Given the description of an element on the screen output the (x, y) to click on. 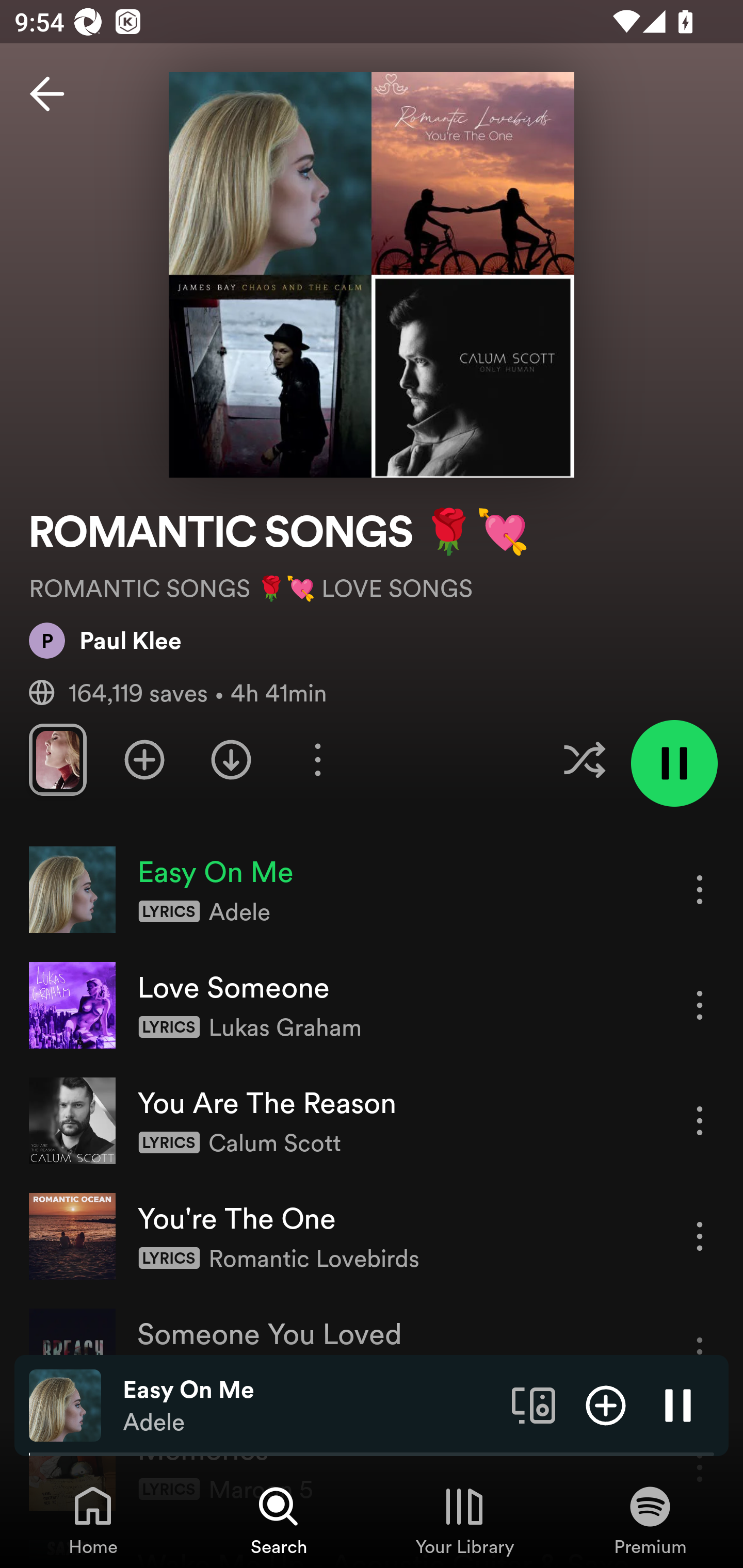
Back (46, 93)
Paul Klee (105, 640)
Swipe through previews of tracks in this playlist. (57, 759)
Add playlist to Your Library (144, 759)
Download (230, 759)
More options for playlist ROMANTIC SONGS 🌹💘 (317, 759)
Enable shuffle for this playlist (583, 759)
Pause playlist (674, 763)
More options for song Easy On Me (699, 889)
More options for song Love Someone (699, 1004)
More options for song You Are The Reason (699, 1120)
More options for song You're The One (699, 1236)
Easy On Me Adele (309, 1405)
The cover art of the currently playing track (64, 1404)
Connect to a device. Opens the devices menu (533, 1404)
Add item (605, 1404)
Pause (677, 1404)
Home, Tab 1 of 4 Home Home (92, 1519)
Search, Tab 2 of 4 Search Search (278, 1519)
Your Library, Tab 3 of 4 Your Library Your Library (464, 1519)
Premium, Tab 4 of 4 Premium Premium (650, 1519)
